Given the description of an element on the screen output the (x, y) to click on. 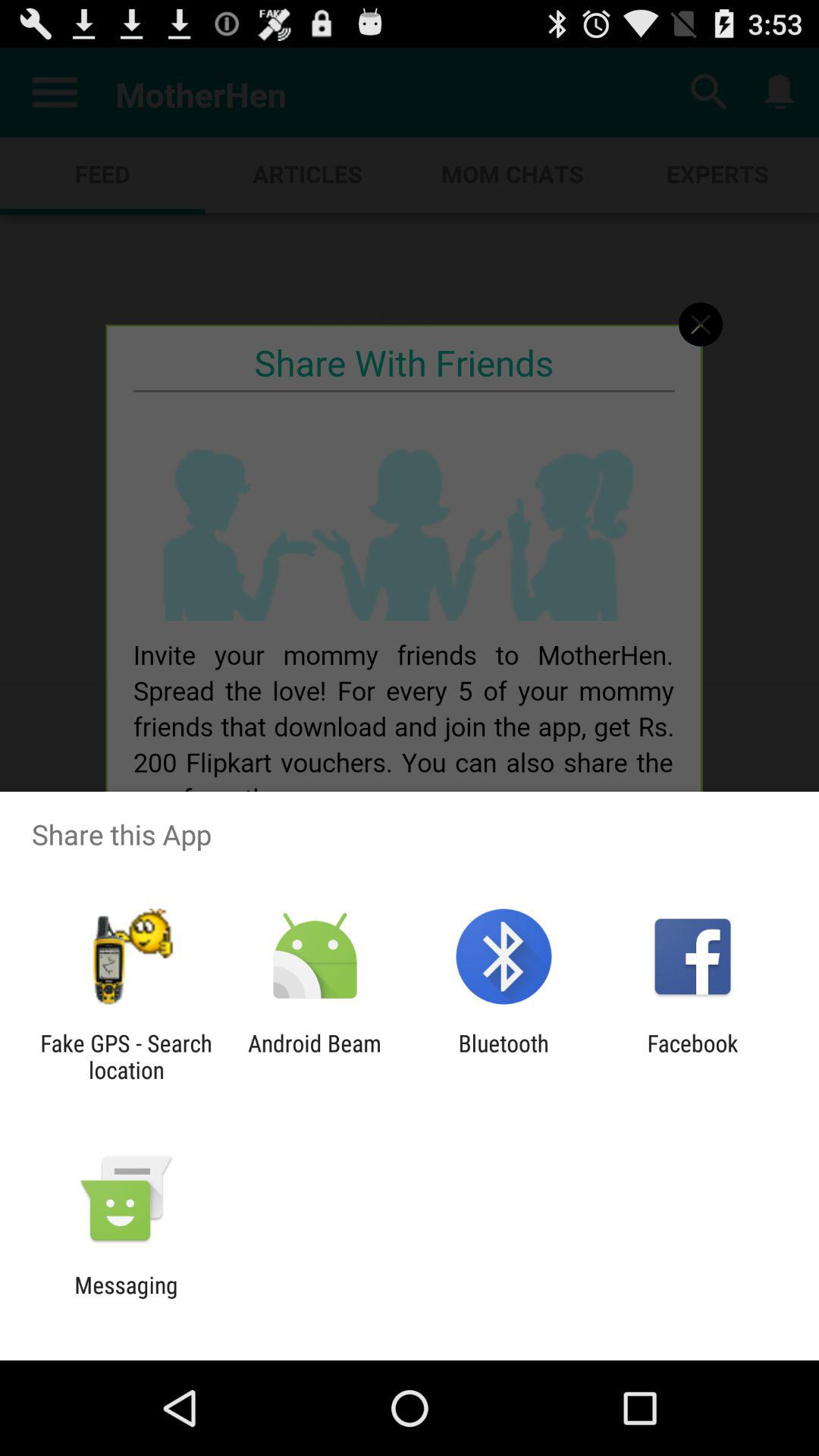
flip until the bluetooth (503, 1056)
